Given the description of an element on the screen output the (x, y) to click on. 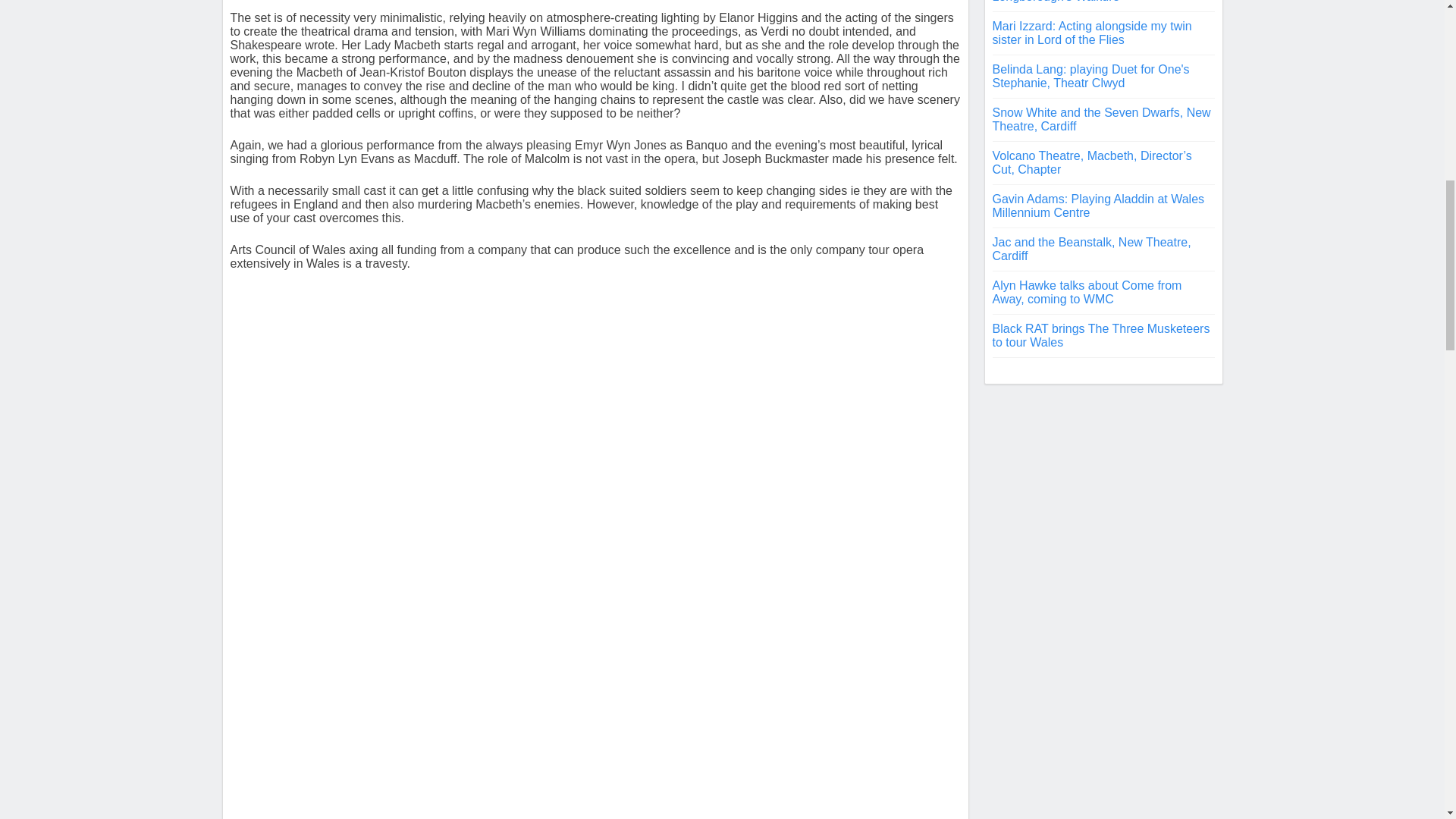
Belinda Lang: playing Duet for One's Stephanie, Theatr Clwyd (1090, 76)
Gavin Adams: Playing Aladdin at Wales Millennium Centre (1097, 205)
Snow White and the Seven Dwarfs, New Theatre, Cardiff (1100, 119)
Paul Carey Jones excels in Longborough's Walkure (1064, 1)
Jac and the Beanstalk, New Theatre, Cardiff (1091, 248)
